Given the description of an element on the screen output the (x, y) to click on. 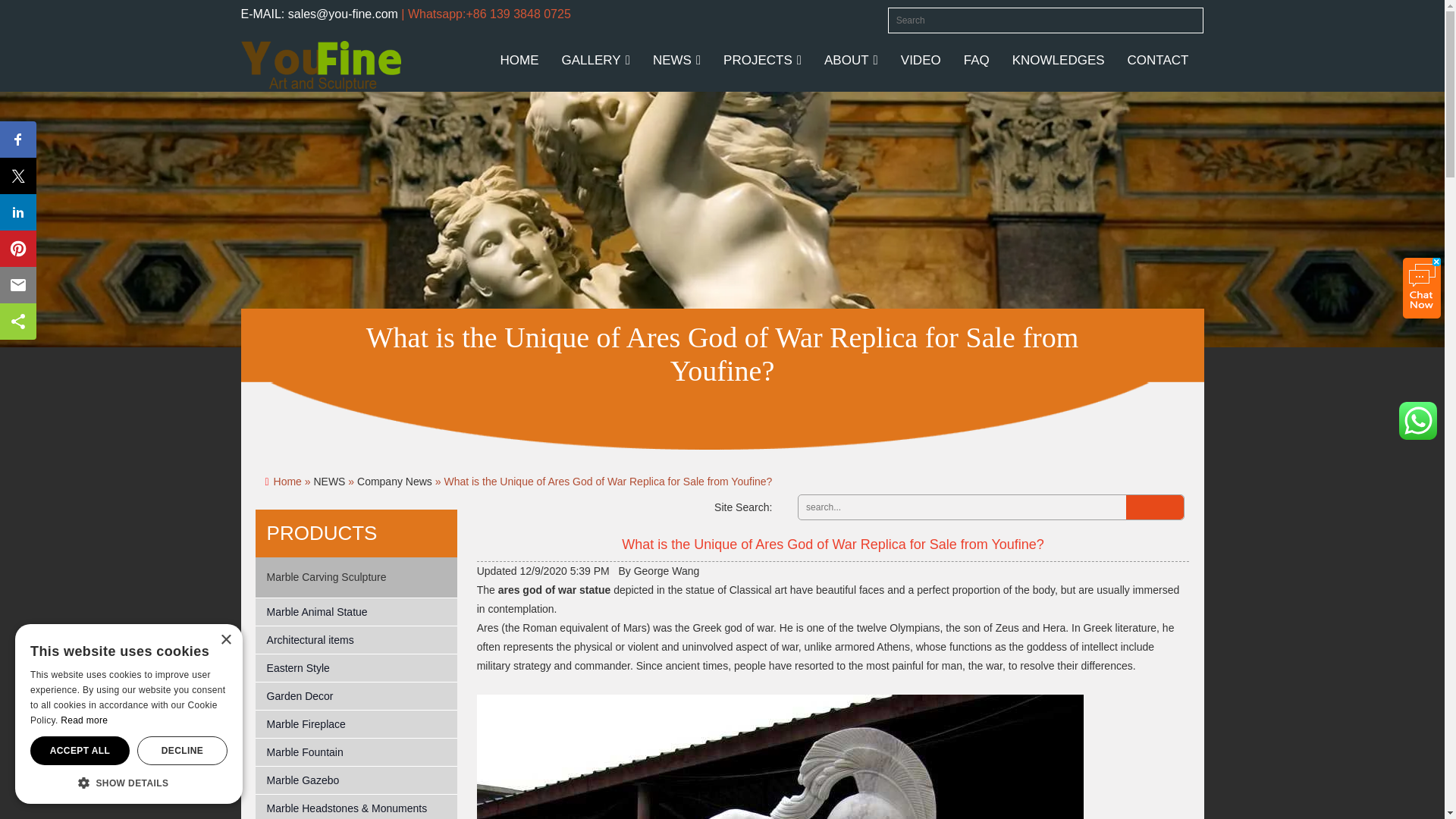
Marble Fireplace (357, 724)
search... (959, 507)
Marble Fountain (357, 752)
Marble Gazebo (357, 780)
China Leading Custom Sculpture Manufacturer (321, 64)
HOME (519, 60)
Marble Animal Statue (357, 612)
Marble Carving Sculpture (326, 576)
Architectural items (357, 640)
GALLERY (596, 60)
Eastern Style (357, 668)
Garden Decor (357, 696)
